Given the description of an element on the screen output the (x, y) to click on. 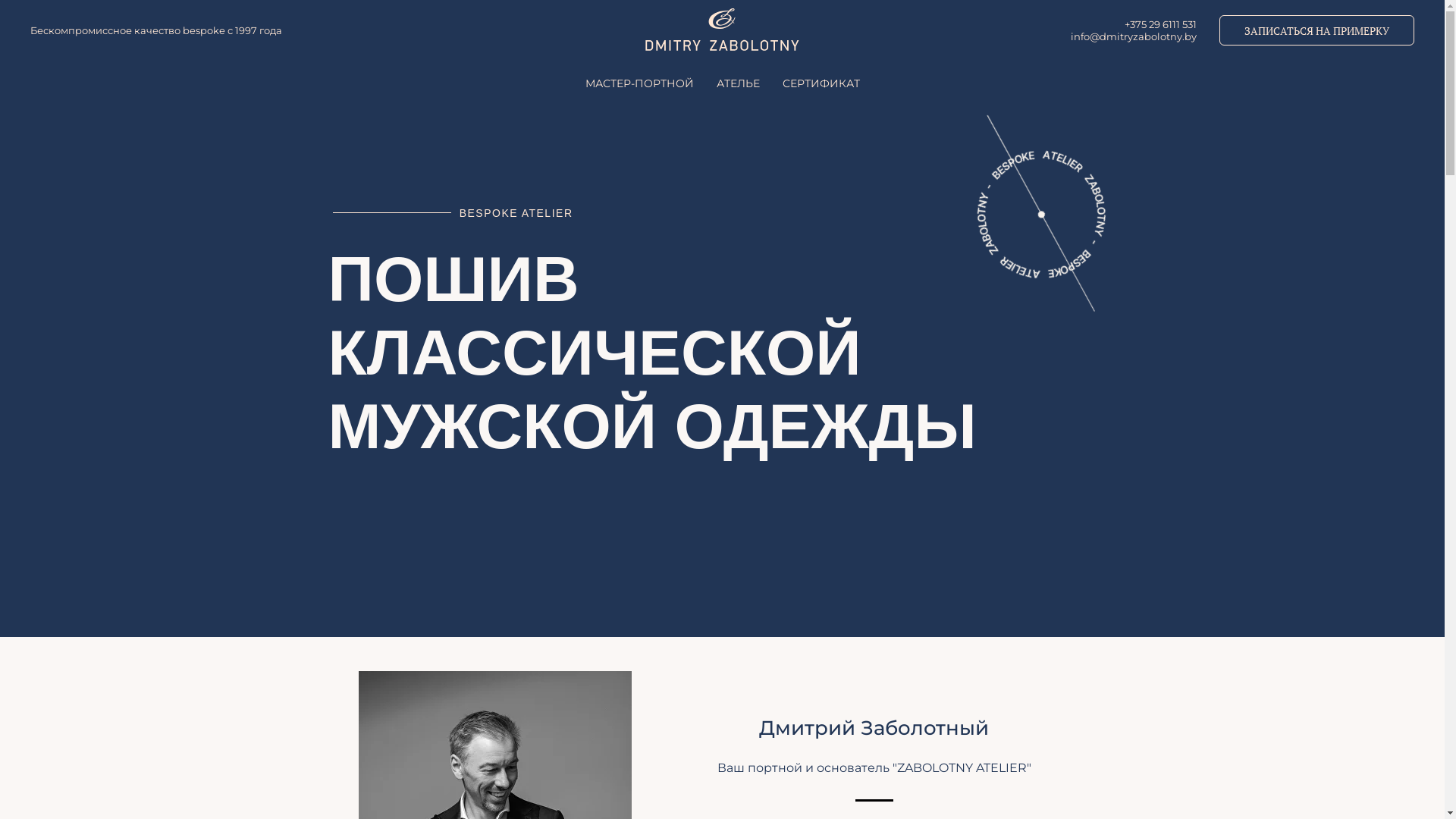
+375 29 6111 531 Element type: text (1160, 24)
